Given the description of an element on the screen output the (x, y) to click on. 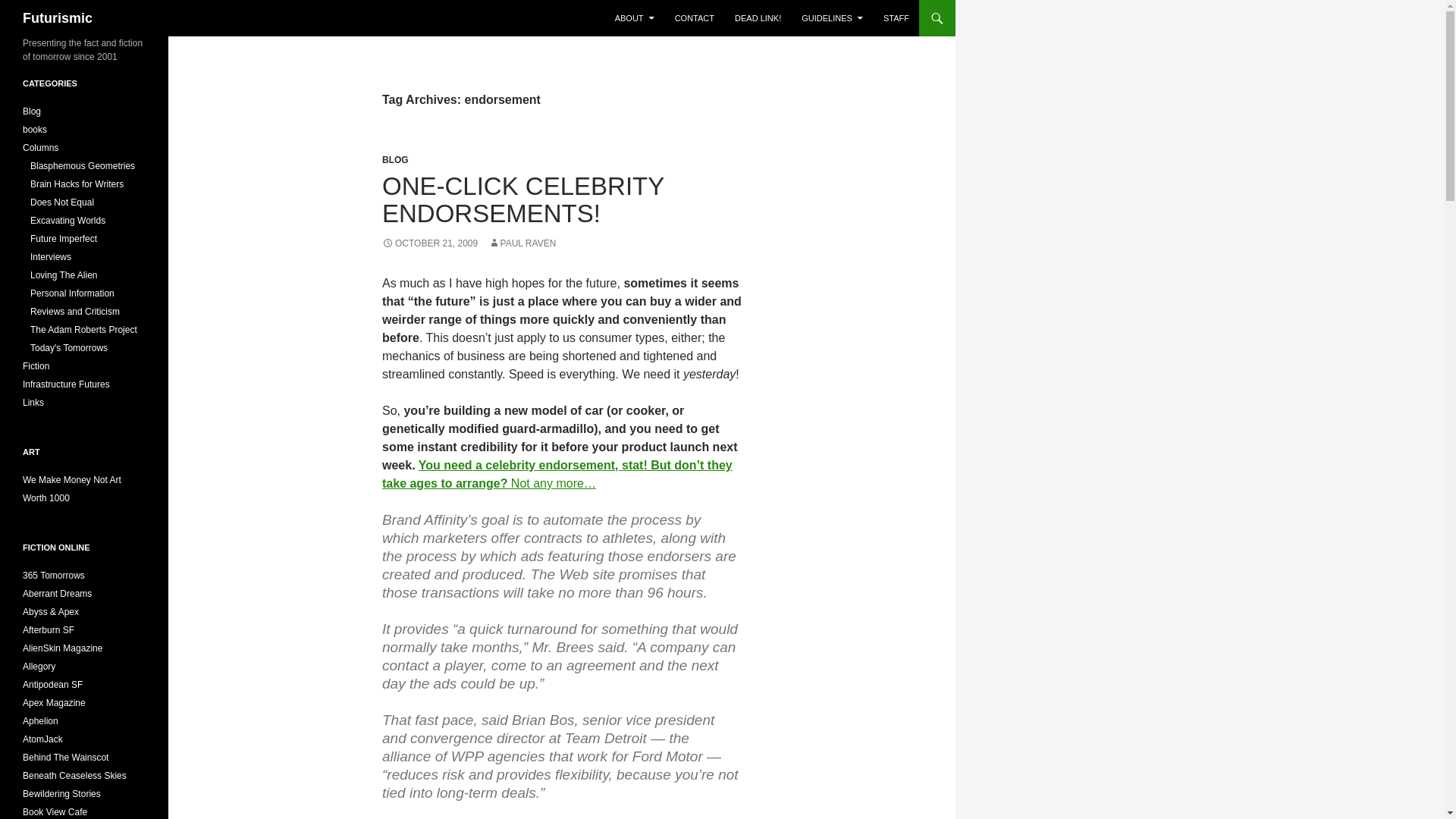
Loving The Alien (63, 275)
Infrastructure Futures (66, 384)
CONTACT (694, 18)
Columns (40, 147)
Personal Information (72, 293)
OCTOBER 21, 2009 (429, 243)
BLOG (395, 159)
Interviews (50, 256)
The Adam Roberts Project (83, 329)
STAFF (896, 18)
